Given the description of an element on the screen output the (x, y) to click on. 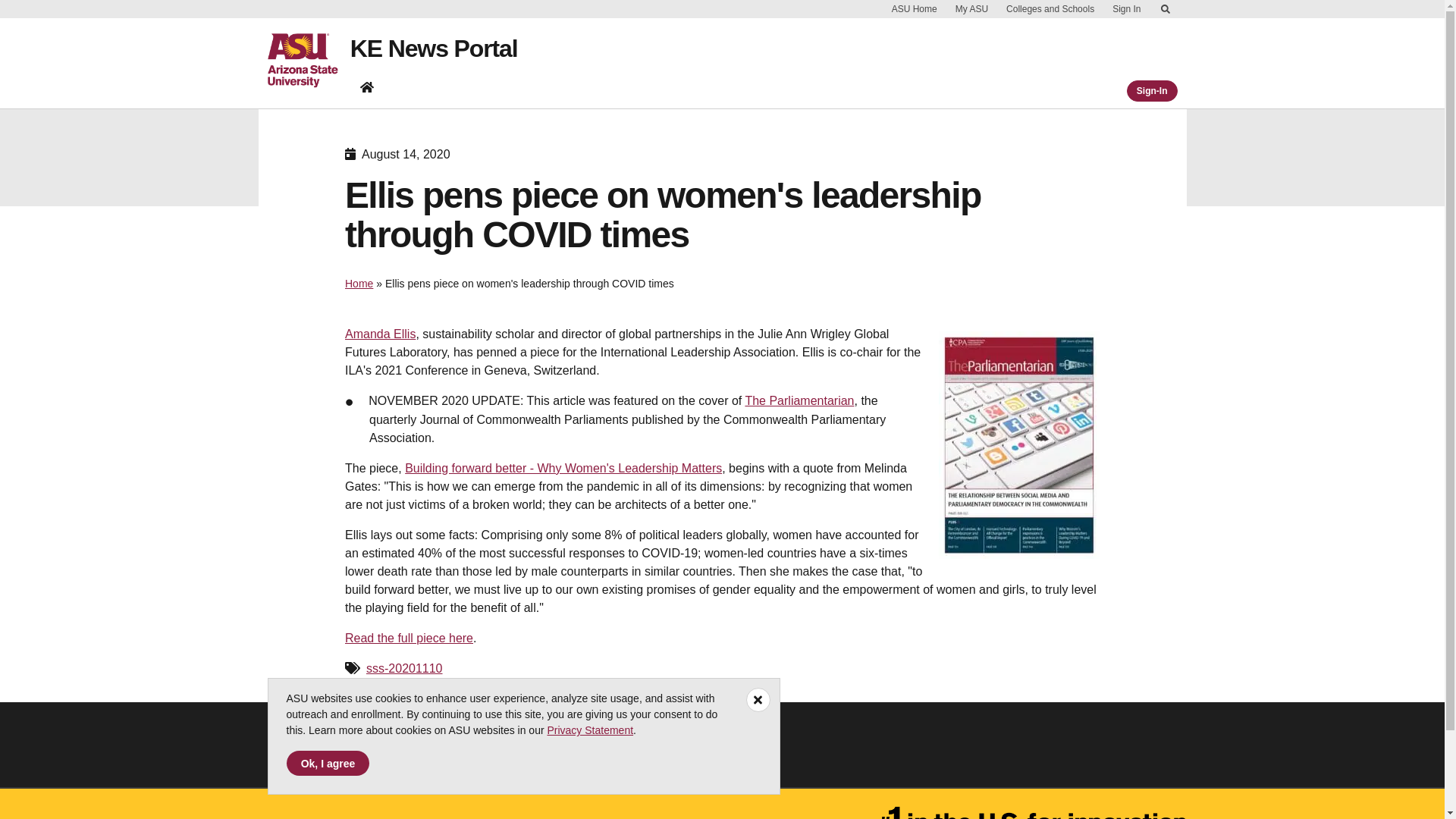
Building forward better - Why Women's Leadership Matters (563, 468)
Privacy Statement (590, 729)
Amanda Ellis (379, 333)
Home (358, 283)
Tags (352, 667)
ASU Home (914, 8)
The Parliamentarian (798, 400)
Sign In (1126, 8)
Sign-In (1151, 90)
KE News Portal home (367, 90)
